Given the description of an element on the screen output the (x, y) to click on. 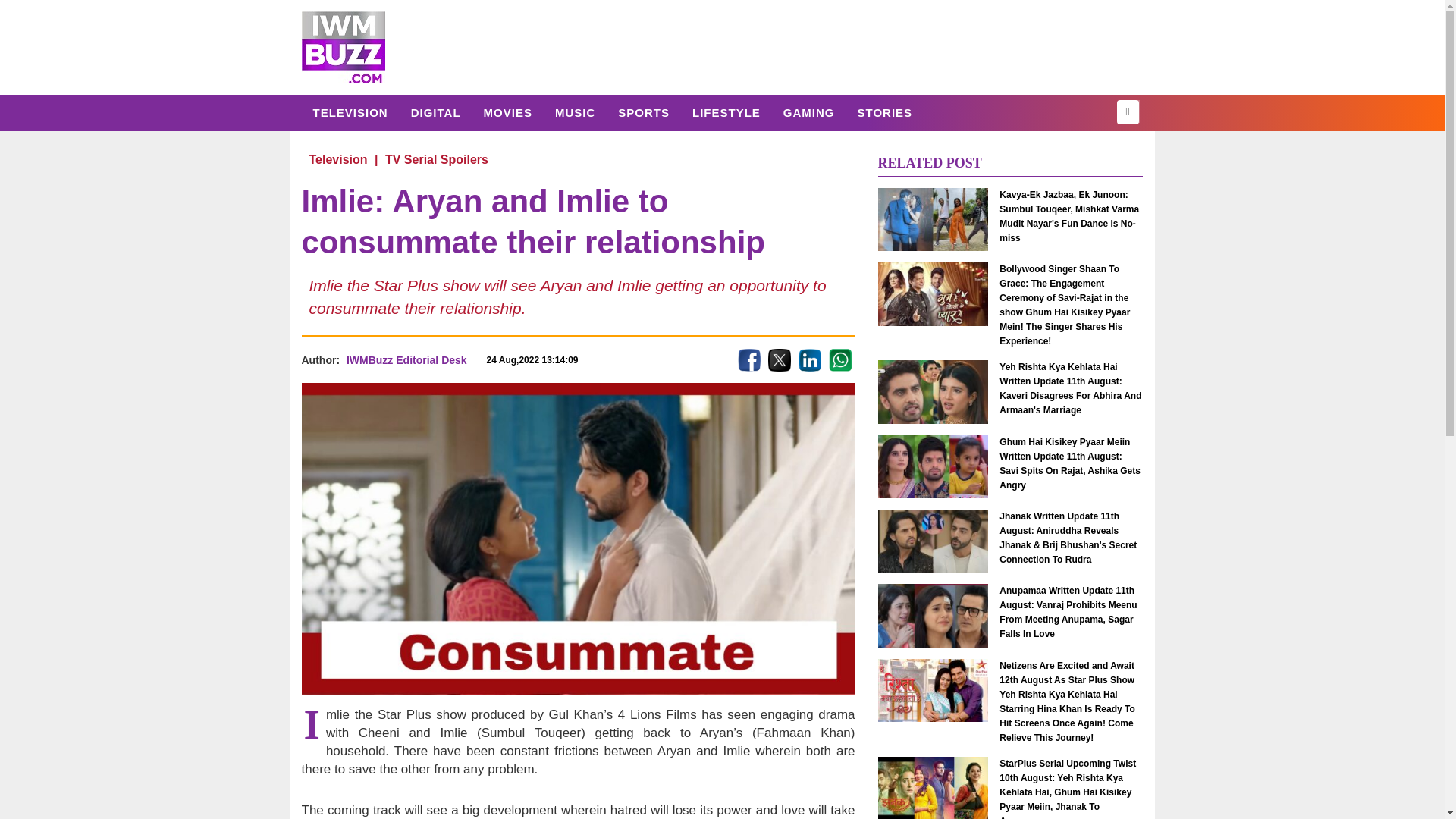
IWMBuzz (343, 46)
TV Serial Spoilers (436, 159)
GAMING (808, 112)
LIFESTYLE (726, 112)
Gaming (808, 112)
Movies (507, 112)
Web Stories (884, 112)
